Given the description of an element on the screen output the (x, y) to click on. 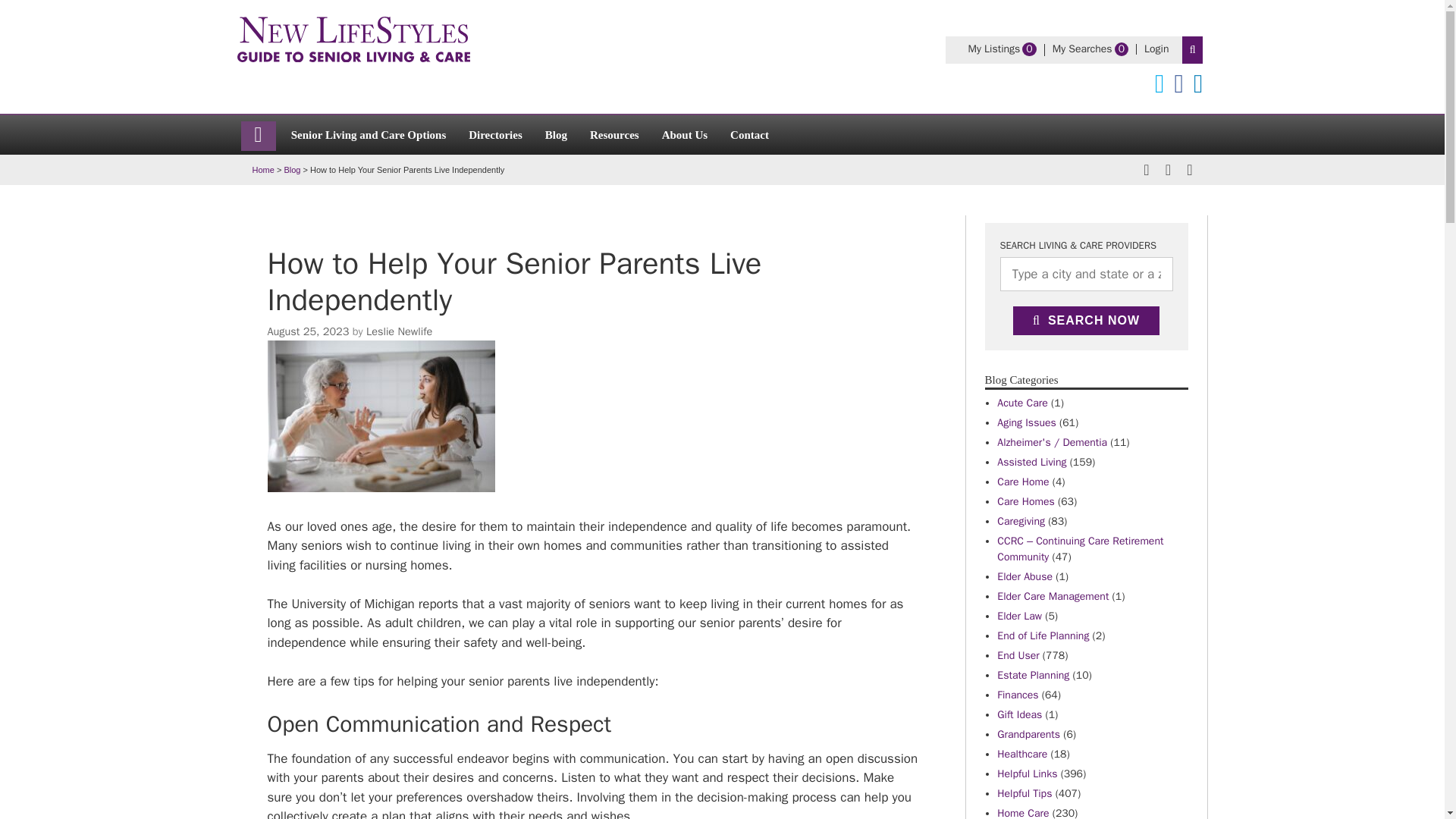
Senior Living and Care Options (368, 133)
Directories (495, 133)
Resources (614, 133)
Blog (556, 133)
Login (1156, 48)
View all posts by Leslie Newlife (1082, 48)
Search (399, 331)
Skip to content (1193, 49)
About Us (994, 48)
nls-logo (307, 331)
